Given the description of an element on the screen output the (x, y) to click on. 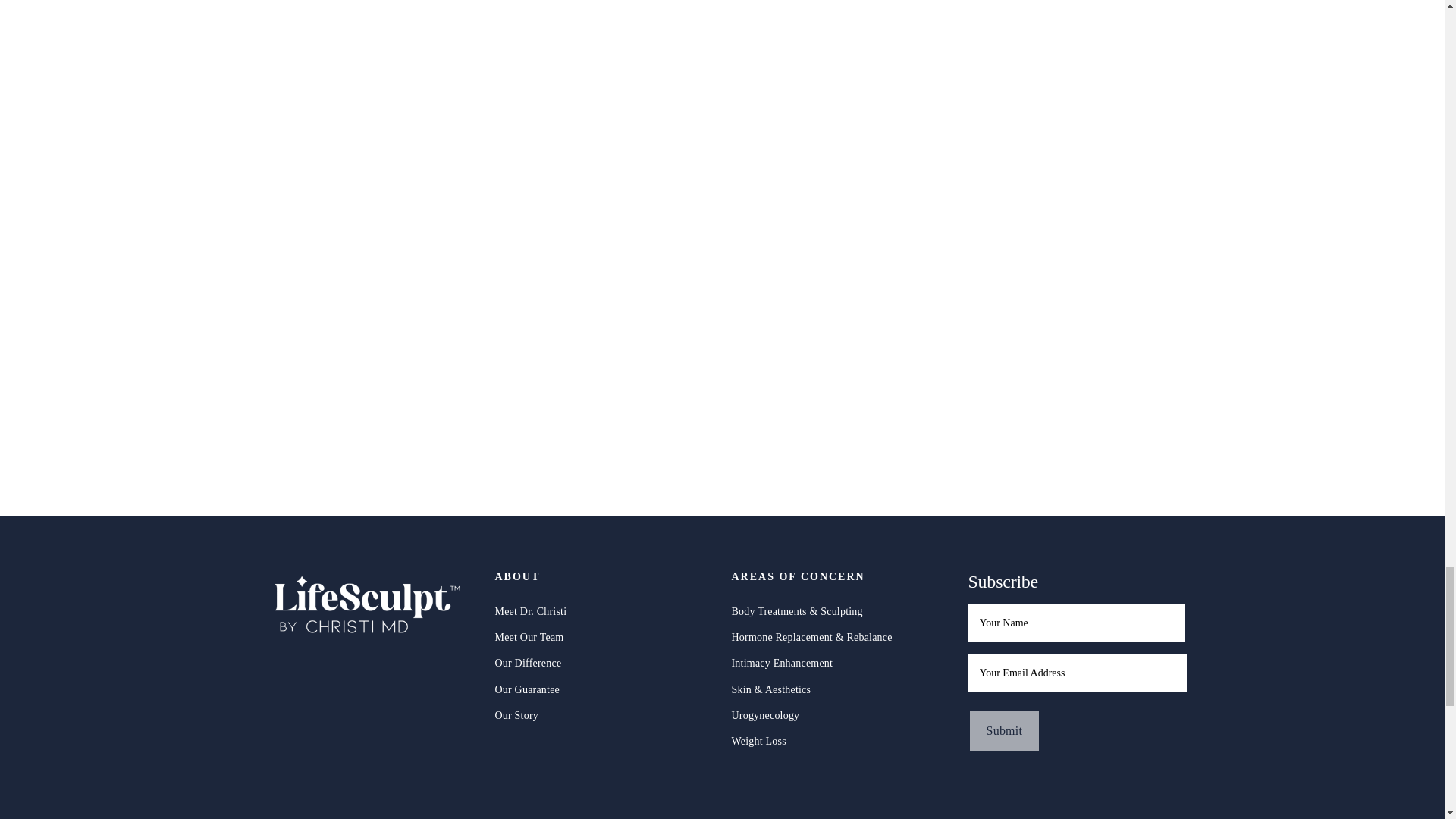
Submit (1004, 730)
